Given the description of an element on the screen output the (x, y) to click on. 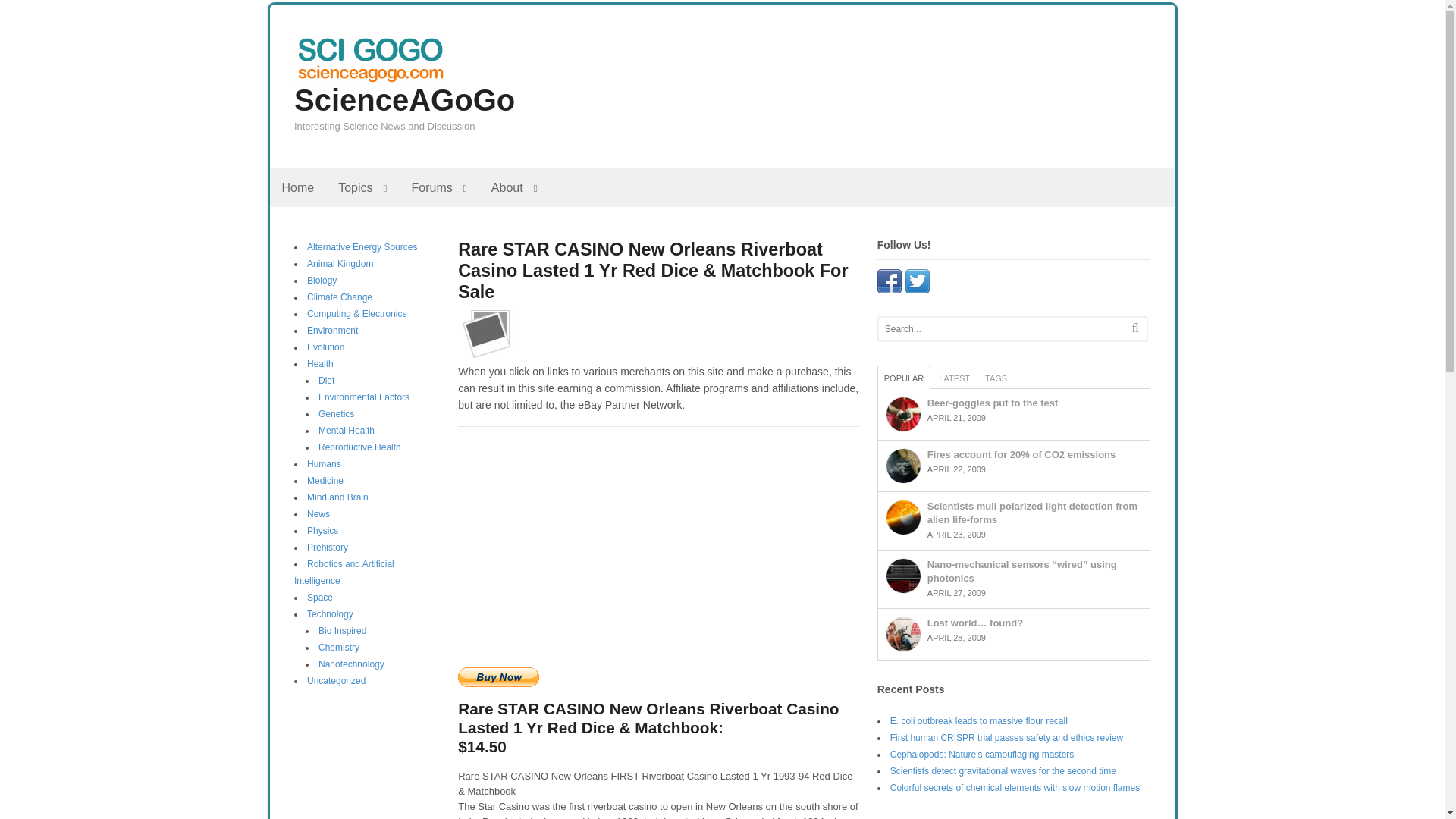
Connect on Facebook (889, 285)
Interesting Science News and Discussion (369, 76)
Advertisement (658, 548)
Beer-goggles put to the test (992, 402)
Home (297, 187)
Follow scienceagogo on Twitter (917, 285)
Buy Now (498, 677)
Forums (438, 187)
Beer-goggles put to the test (903, 414)
ScienceAGoGo (404, 100)
